Given the description of an element on the screen output the (x, y) to click on. 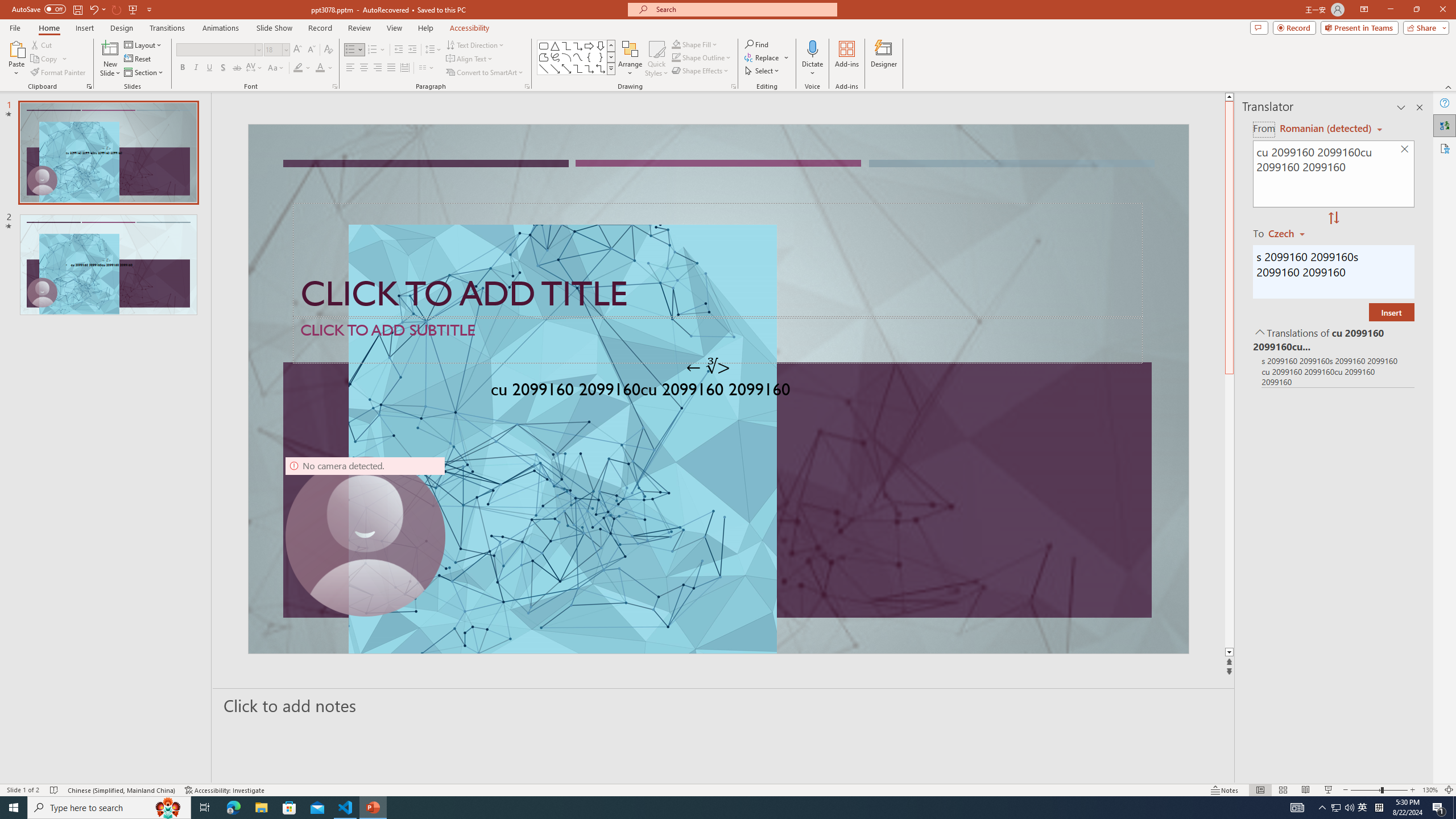
Bold (182, 67)
Slide (108, 264)
Font Size (273, 49)
Text Highlight Color Yellow (297, 67)
Translator (1444, 125)
Shape Outline (701, 56)
Translations of cu 2099160 2099160cu 2099160 2099160 (1333, 338)
Font Color Red (320, 67)
Format Object... (733, 85)
Bullets (349, 49)
Swap "from" and "to" languages. (1333, 218)
